Given the description of an element on the screen output the (x, y) to click on. 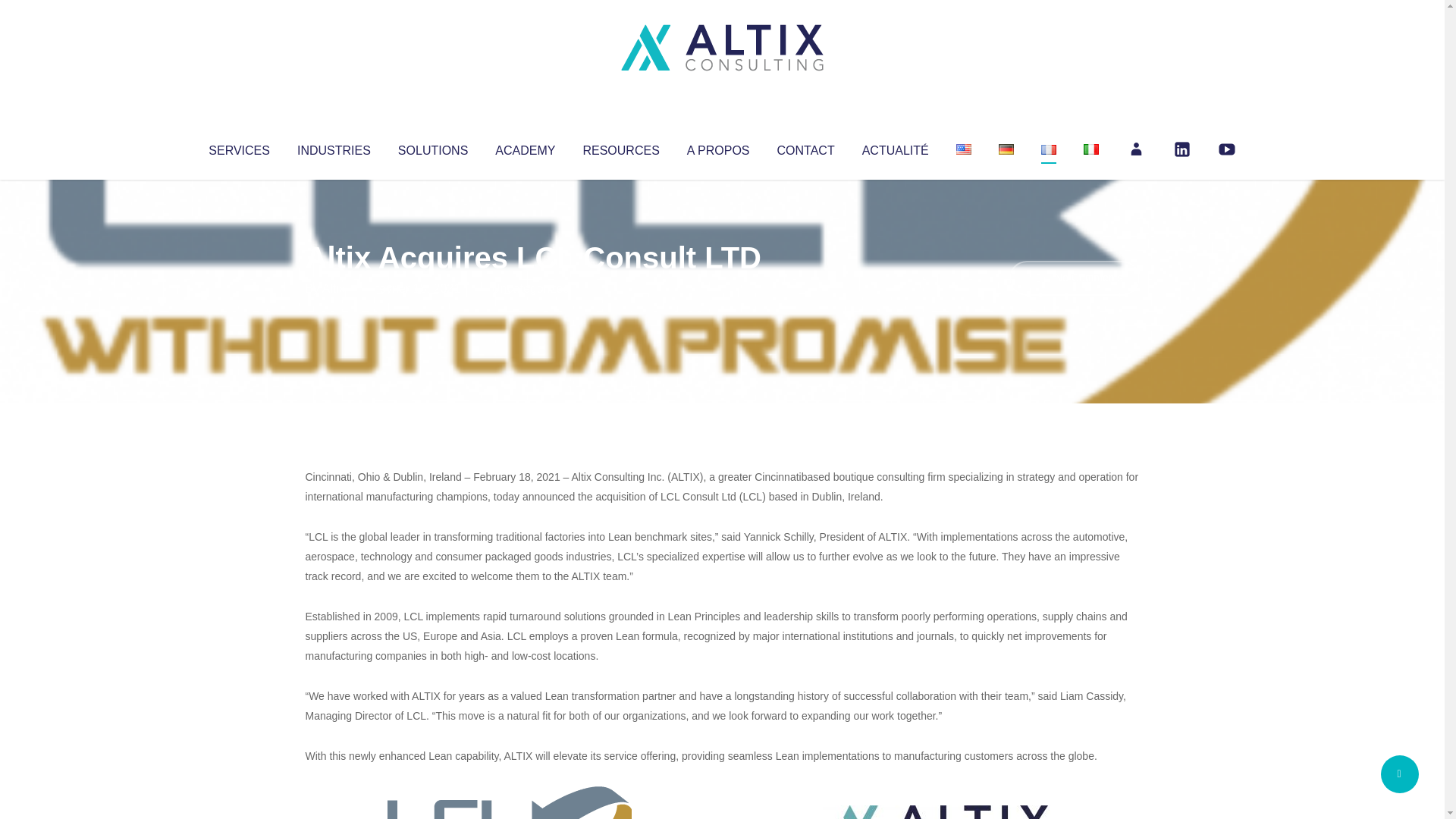
RESOURCES (620, 146)
SOLUTIONS (432, 146)
No Comments (1073, 278)
ACADEMY (524, 146)
Altix (333, 287)
Uncategorized (530, 287)
SERVICES (238, 146)
Articles par Altix (333, 287)
INDUSTRIES (334, 146)
A PROPOS (718, 146)
